Given the description of an element on the screen output the (x, y) to click on. 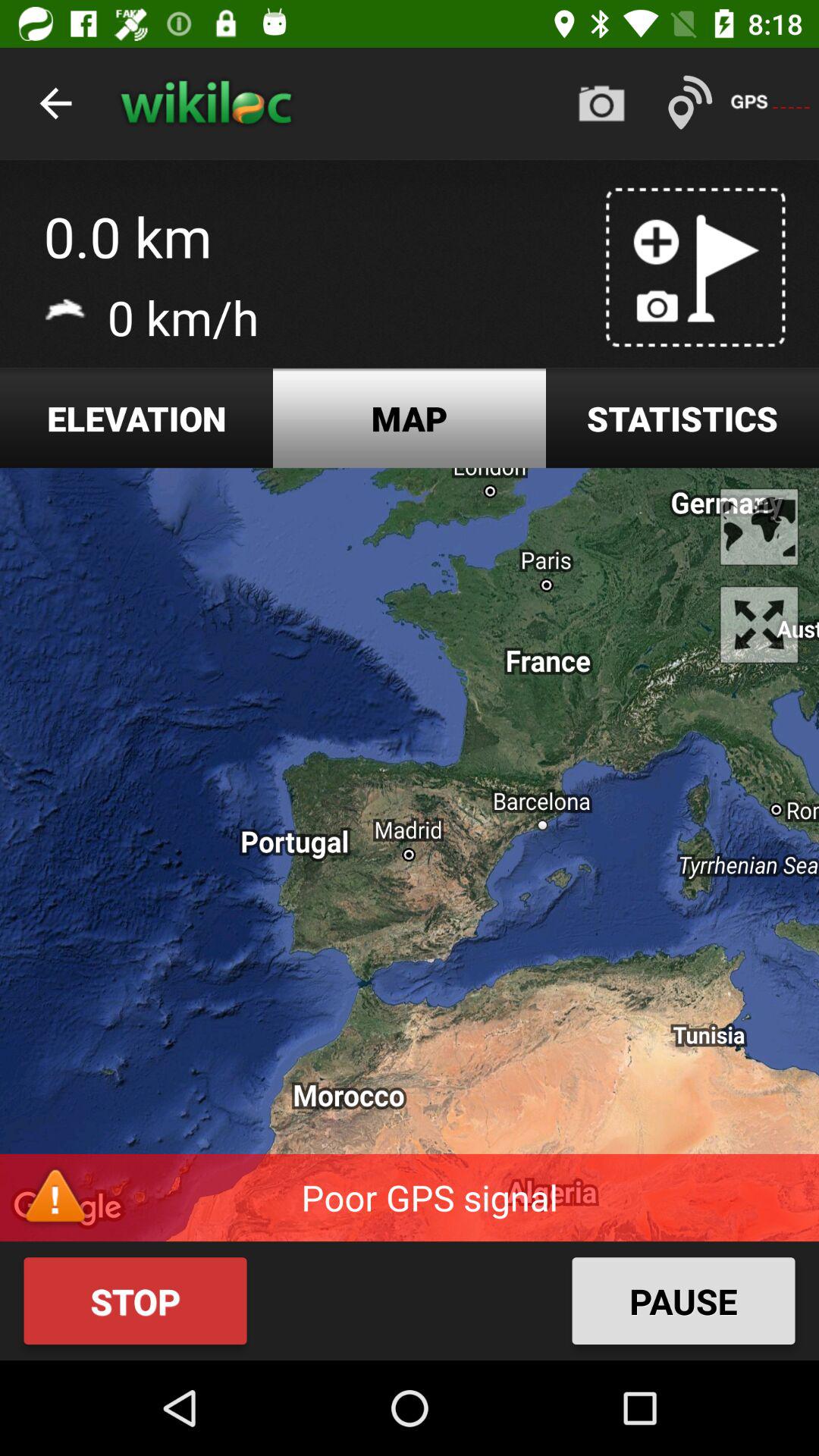
launch the item below 0 km/h app (136, 418)
